Given the description of an element on the screen output the (x, y) to click on. 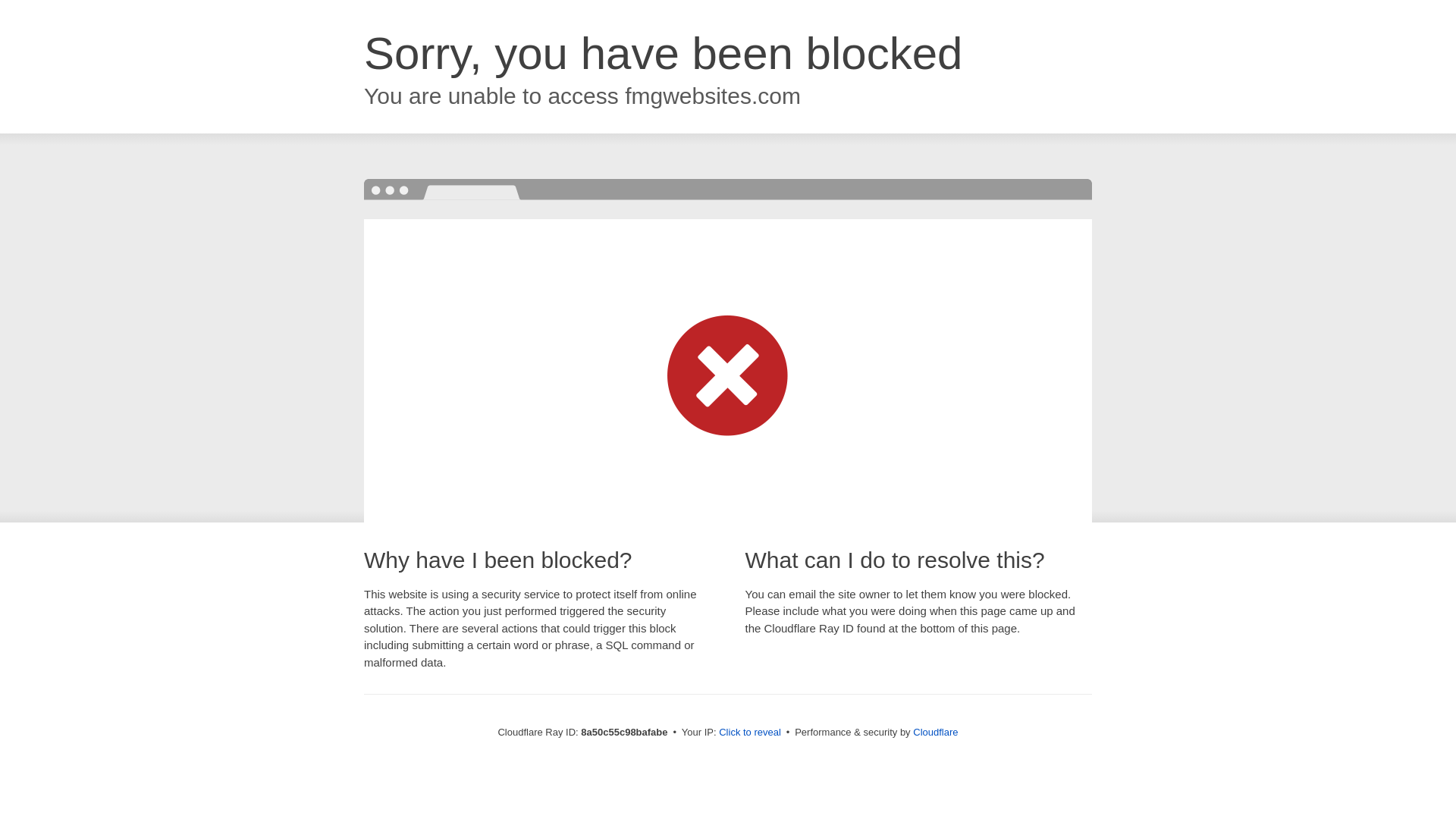
Click to reveal (749, 732)
Cloudflare (935, 731)
